Given the description of an element on the screen output the (x, y) to click on. 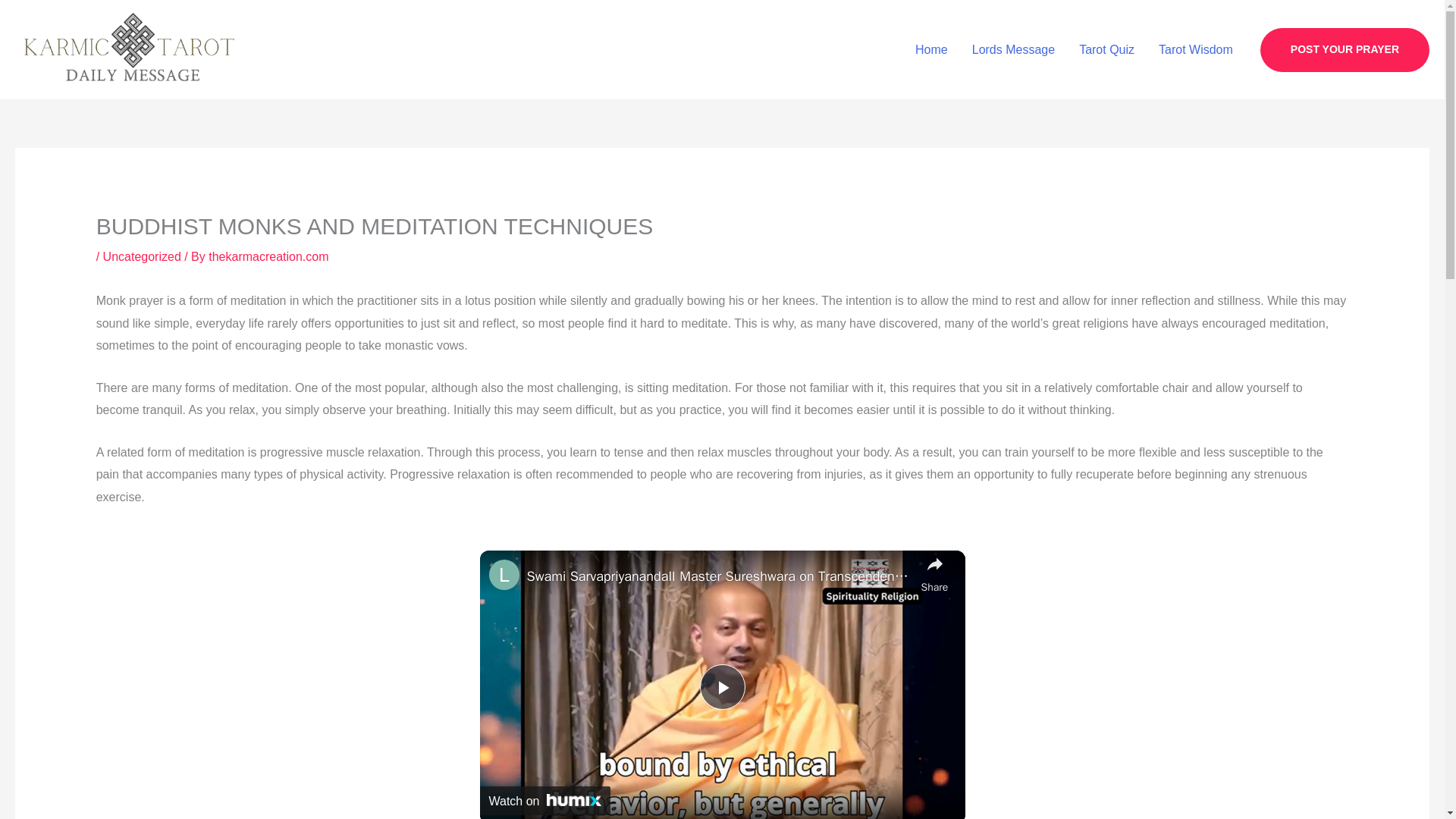
Share (933, 573)
Uncategorized (141, 256)
Watch on (544, 800)
Lords Message (1013, 49)
thekarmacreation.com (268, 256)
Home (930, 49)
share (933, 573)
View all posts by thekarmacreation.com (268, 256)
Tarot Wisdom (1195, 49)
Play Video (721, 687)
Play Video (721, 687)
Tarot Quiz (1107, 49)
POST YOUR PRAYER (1344, 49)
